Given the description of an element on the screen output the (x, y) to click on. 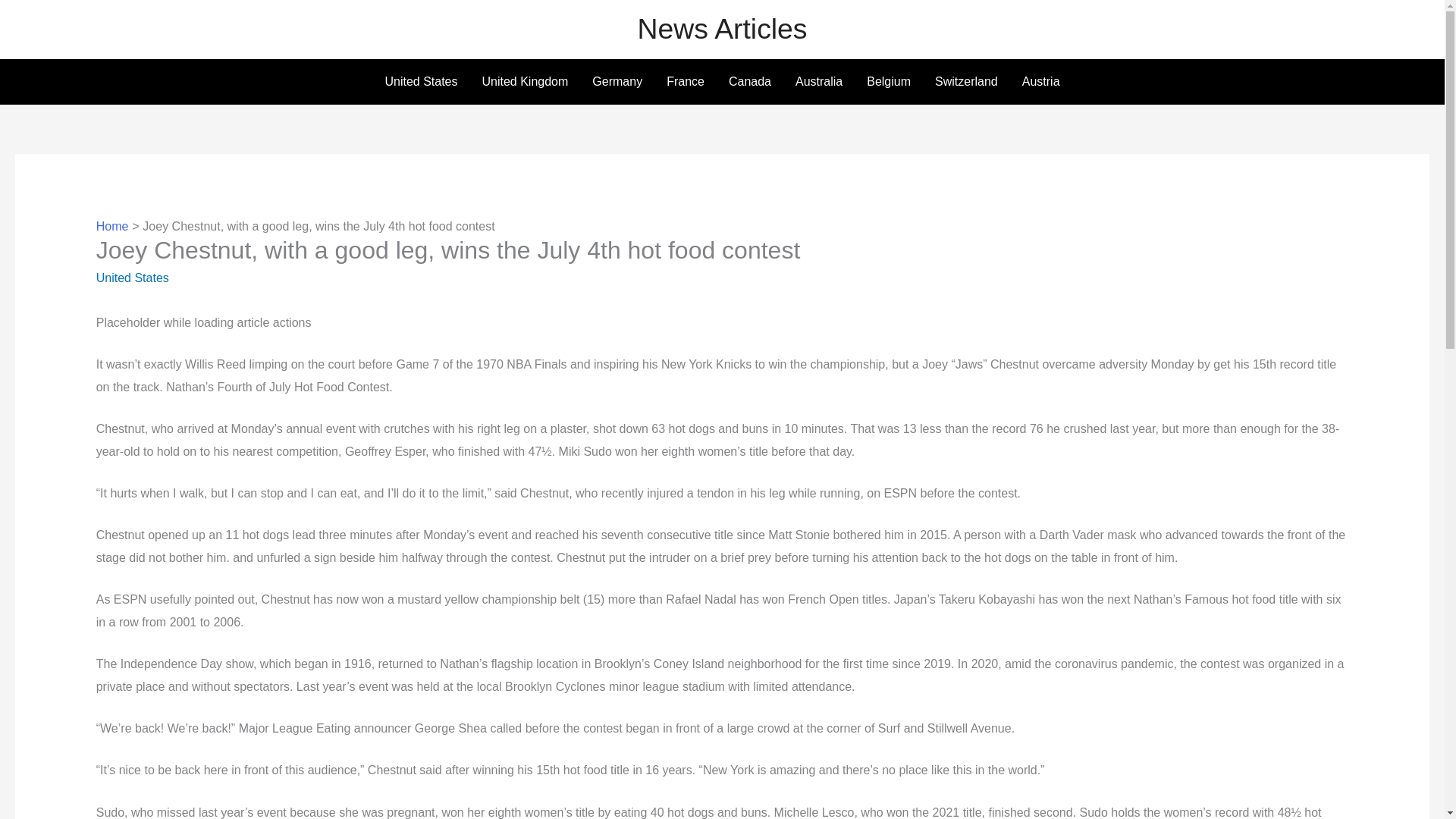
France (684, 81)
Switzerland (966, 81)
Canada (749, 81)
Belgium (888, 81)
United States (420, 81)
Austria (1040, 81)
United States (132, 277)
Home (112, 226)
News Articles (721, 29)
Australia (818, 81)
